Given the description of an element on the screen output the (x, y) to click on. 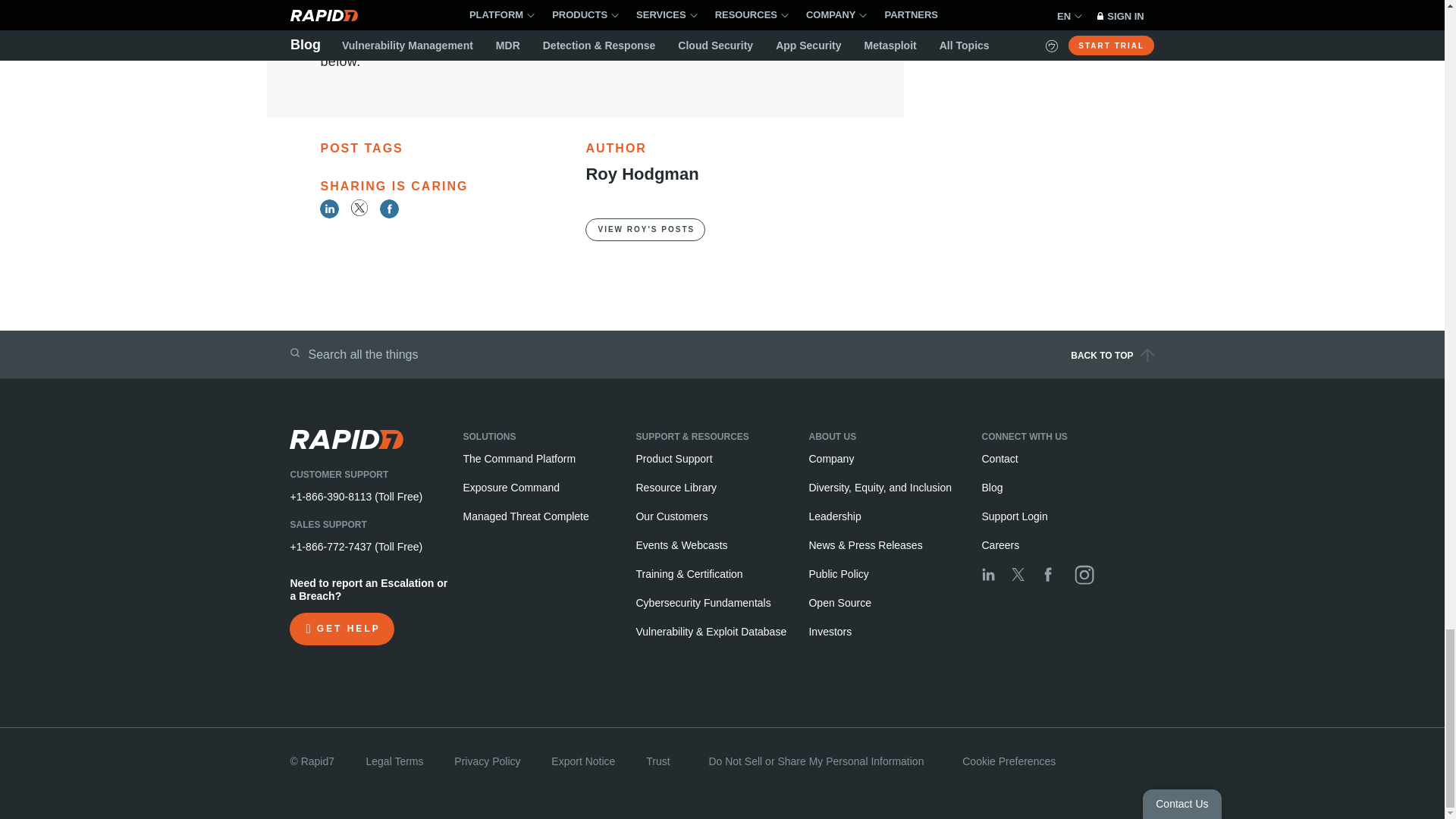
Roy Hodgman (641, 173)
Submit Search (294, 352)
BACK TO TOP (949, 360)
Submit Search (294, 352)
